Given the description of an element on the screen output the (x, y) to click on. 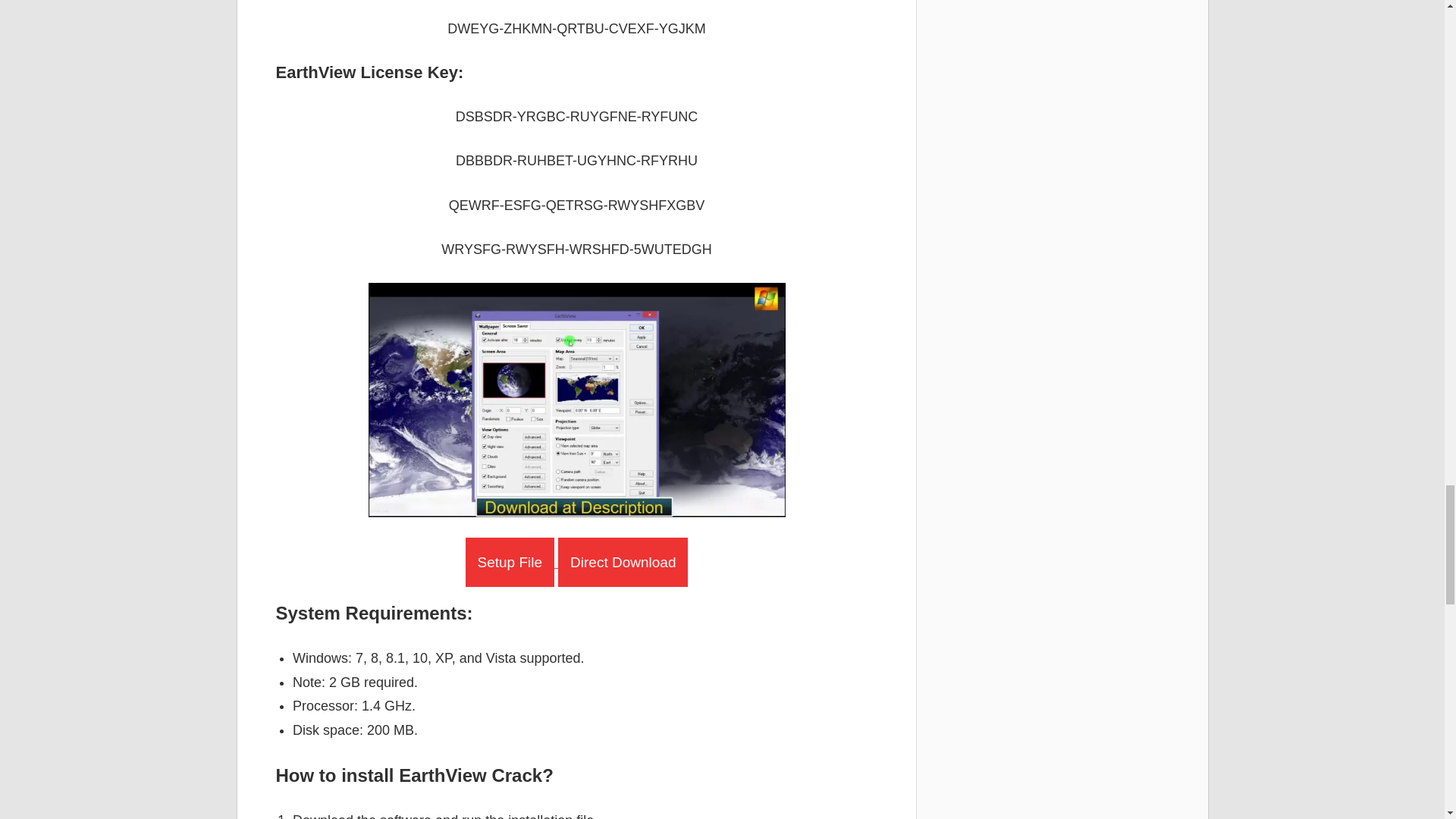
Setup File (509, 562)
Direct Download (622, 562)
Setup File Direct Download (576, 562)
